Given the description of an element on the screen output the (x, y) to click on. 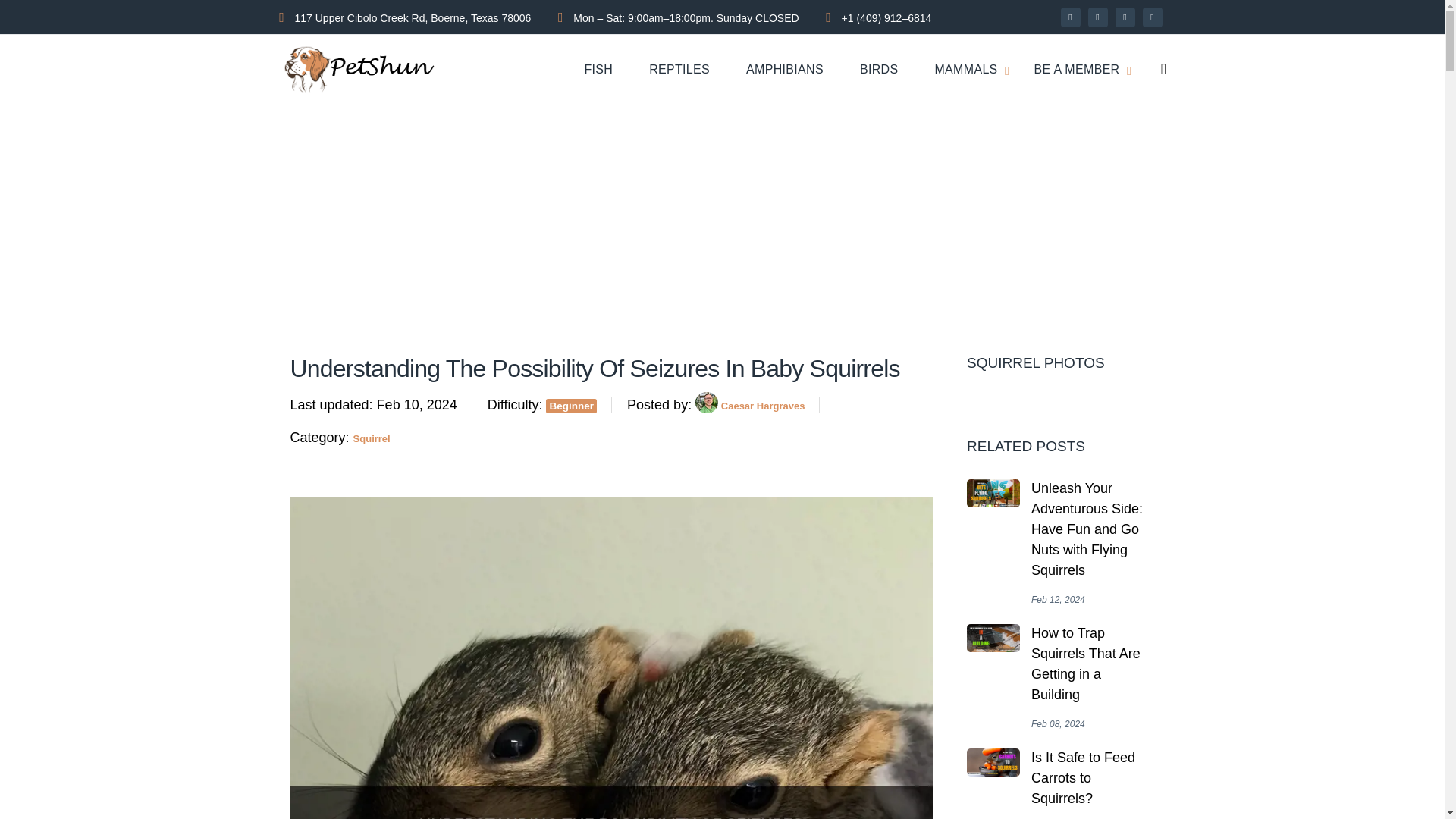
MAMMALS (965, 69)
BIRDS (879, 69)
BE A MEMBER (1076, 69)
117 Upper Cibolo Creek Rd, Boerne, Texas 78006 (412, 18)
FISH (597, 69)
REPTILES (679, 69)
AMPHIBIANS (784, 69)
